Given the description of an element on the screen output the (x, y) to click on. 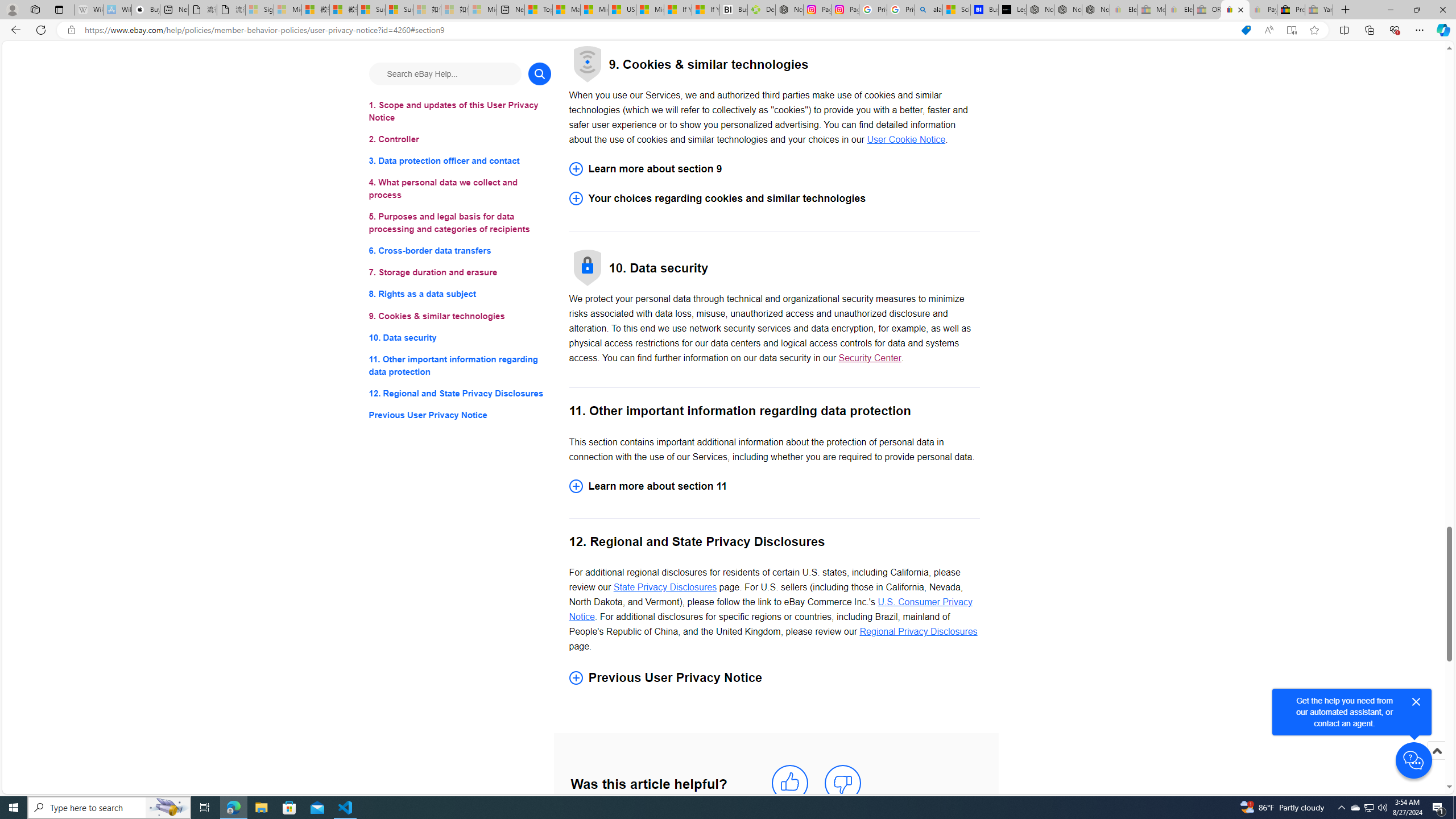
U.S. Consumer Privacy Notice - opens in new window or tab (770, 609)
7. Storage duration and erasure (459, 272)
4. What personal data we collect and process (459, 189)
Security Center - opens in new window or tab (869, 357)
1. Scope and updates of this User Privacy Notice (459, 111)
